Given the description of an element on the screen output the (x, y) to click on. 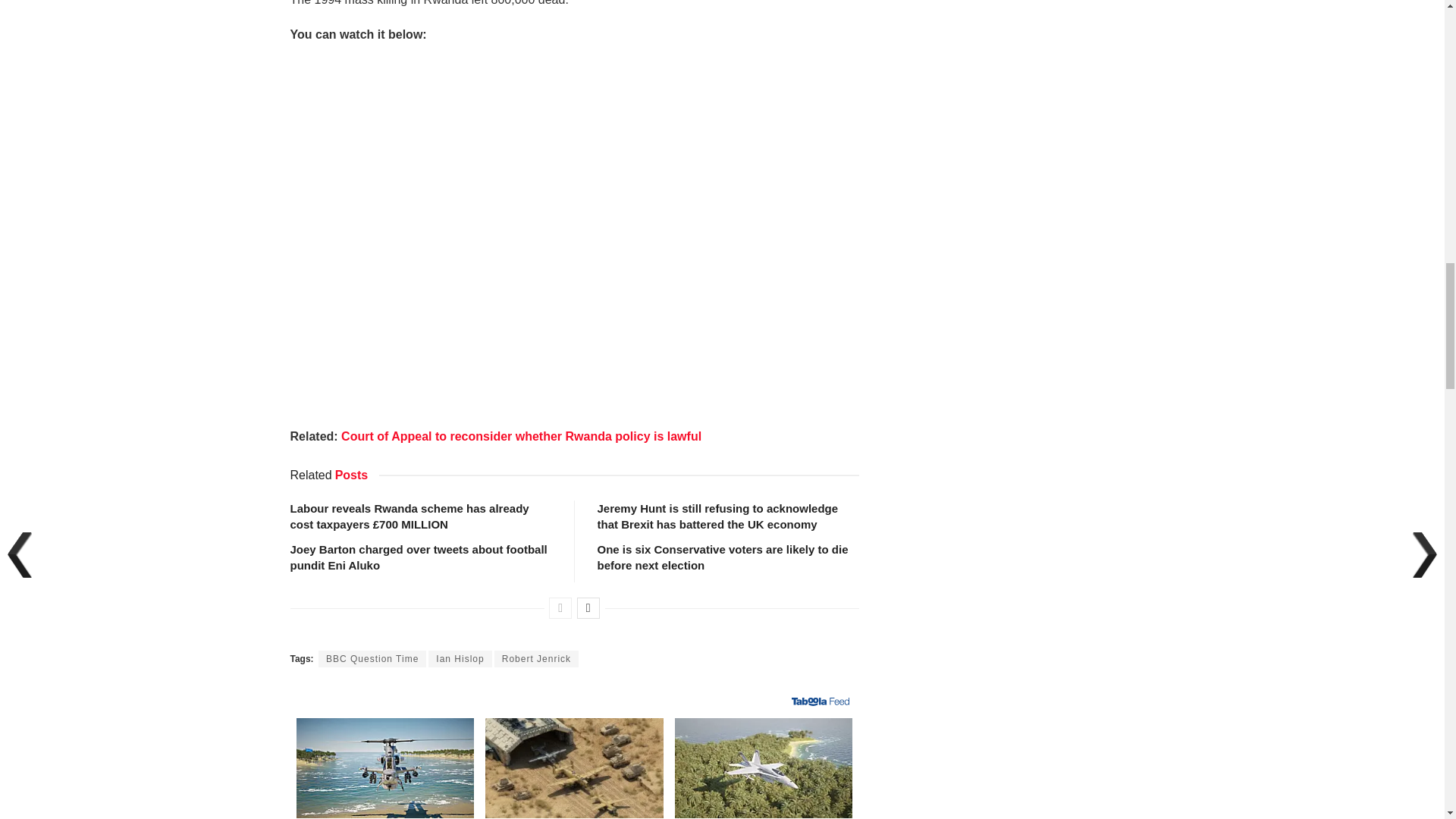
Previous (560, 608)
Next (587, 608)
